Given the description of an element on the screen output the (x, y) to click on. 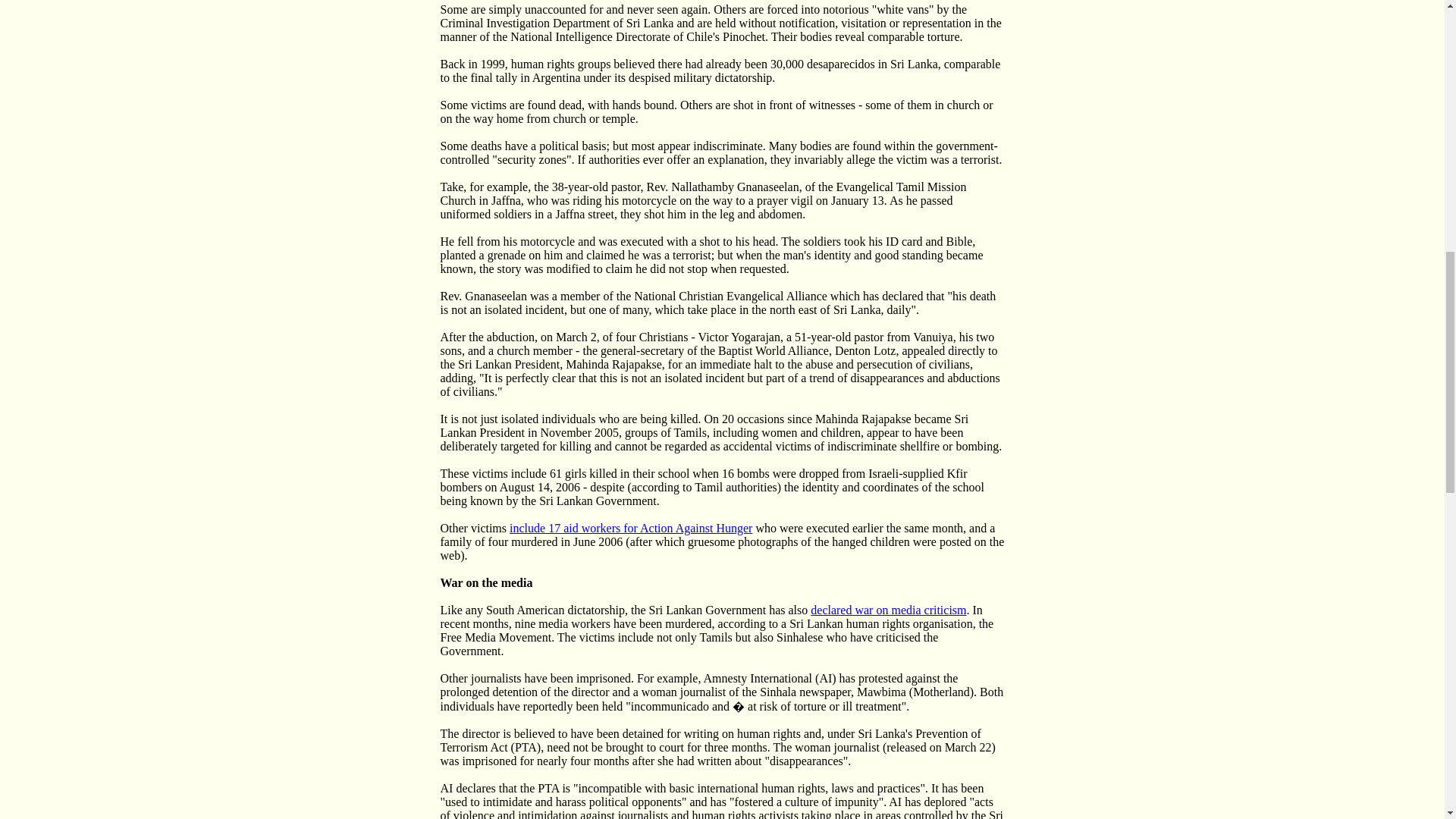
declared war on media criticism (888, 609)
include 17 aid workers for Action Against Hunger (630, 527)
